Given the description of an element on the screen output the (x, y) to click on. 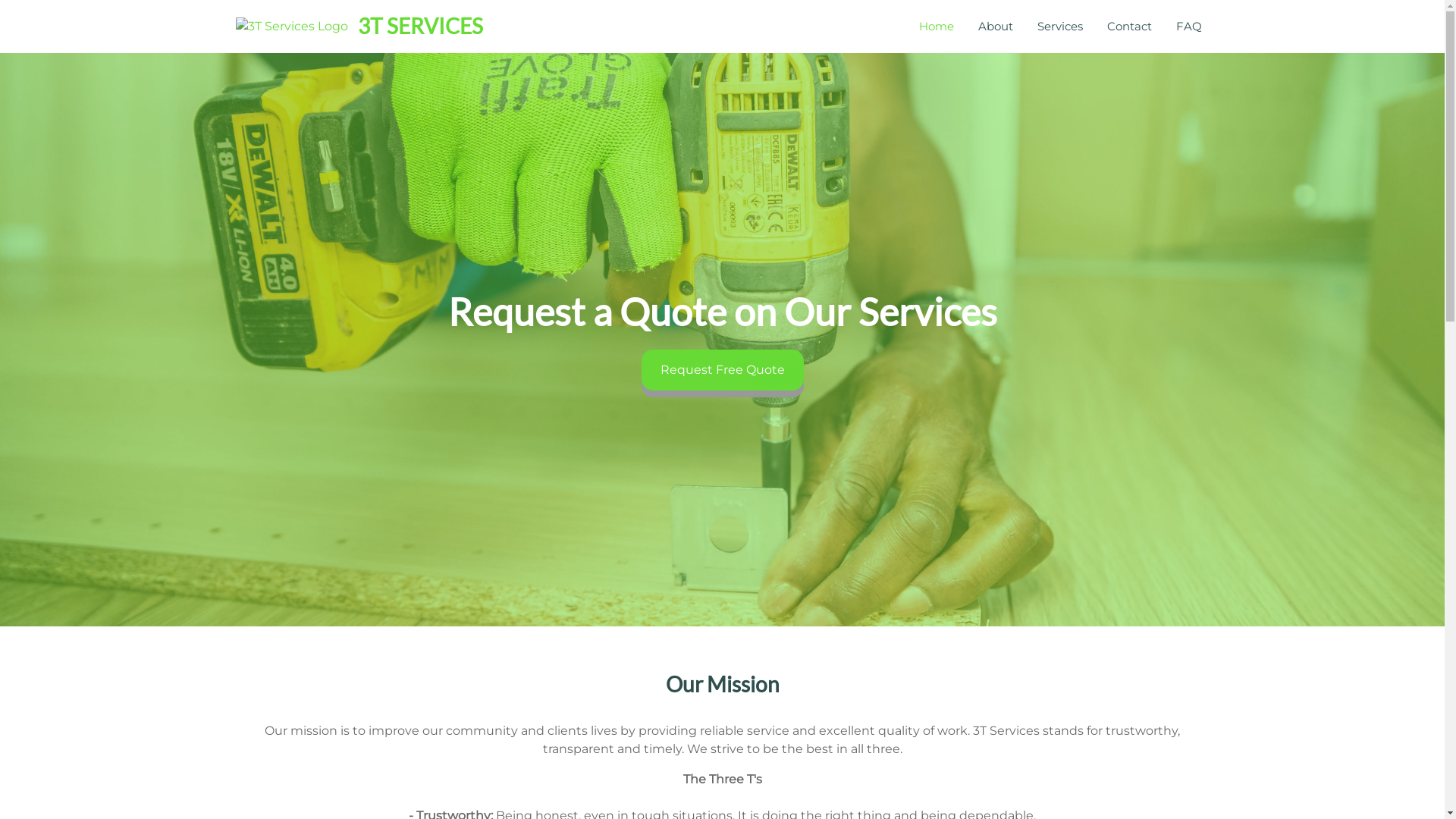
Request Free Quote Element type: text (722, 369)
FAQ Element type: text (1188, 26)
Home Element type: text (936, 26)
Contact Element type: text (1129, 26)
About Element type: text (995, 26)
3T SERVICES Element type: text (420, 25)
Services Element type: text (1060, 26)
Request Free Quote Element type: text (722, 369)
